Given the description of an element on the screen output the (x, y) to click on. 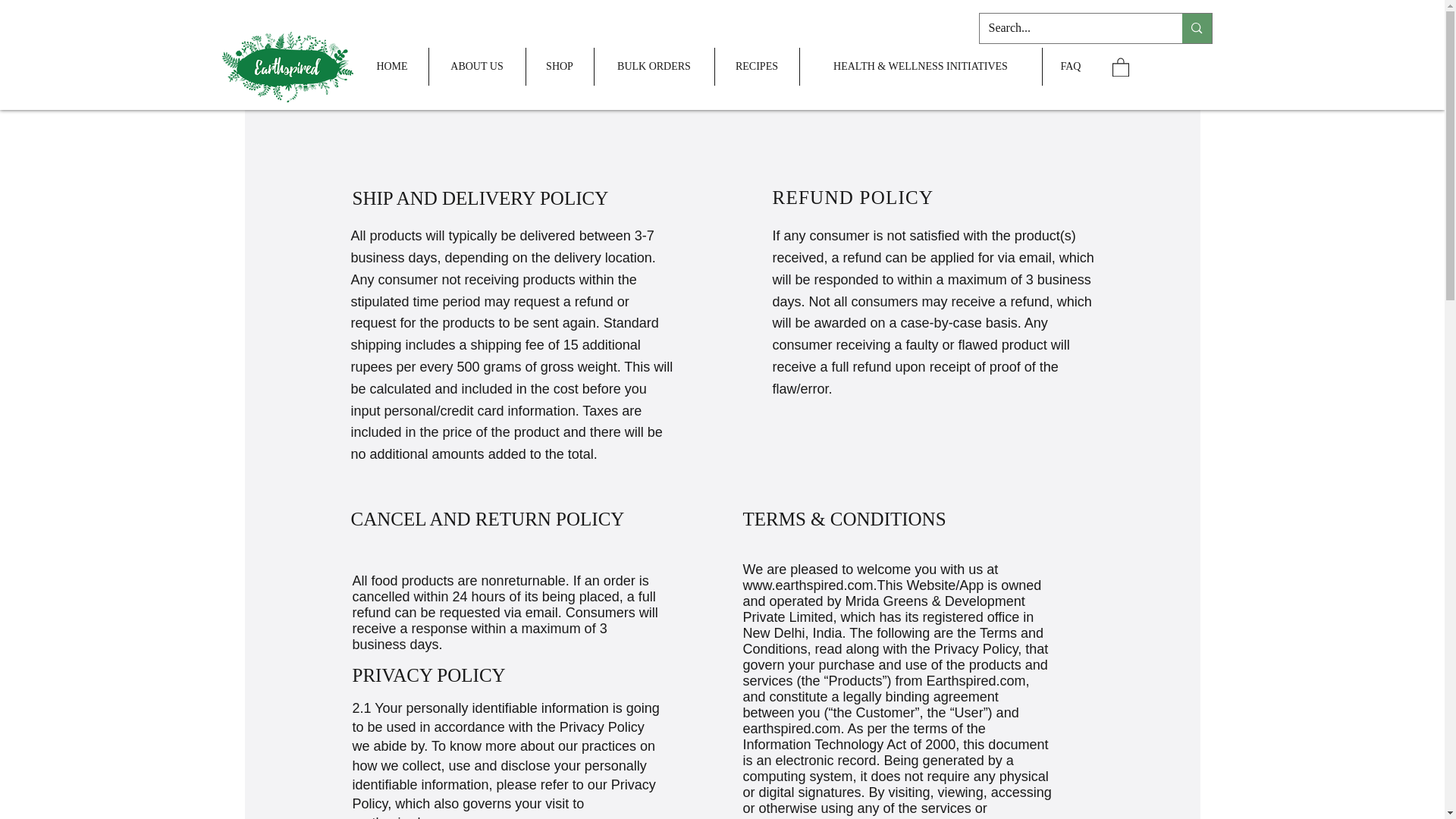
BULK ORDERS (654, 66)
ABOUT US (477, 66)
RECIPES (755, 66)
HOME (392, 66)
www.earthspired.com.This (822, 585)
SHOP (559, 66)
FAQ (1070, 66)
